Given the description of an element on the screen output the (x, y) to click on. 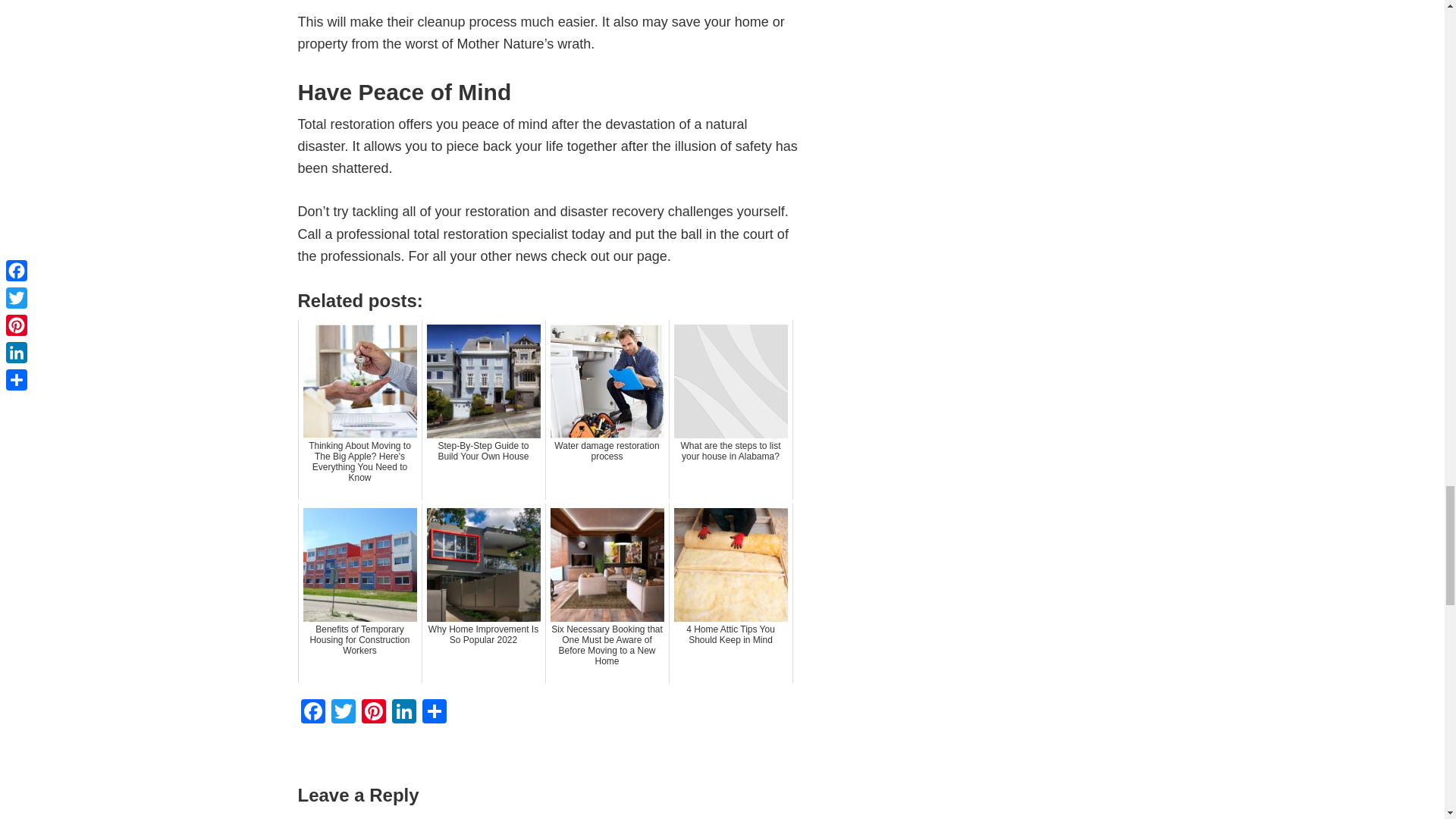
LinkedIn (403, 713)
Pinterest (373, 713)
Twitter (342, 713)
Facebook (312, 713)
